Given the description of an element on the screen output the (x, y) to click on. 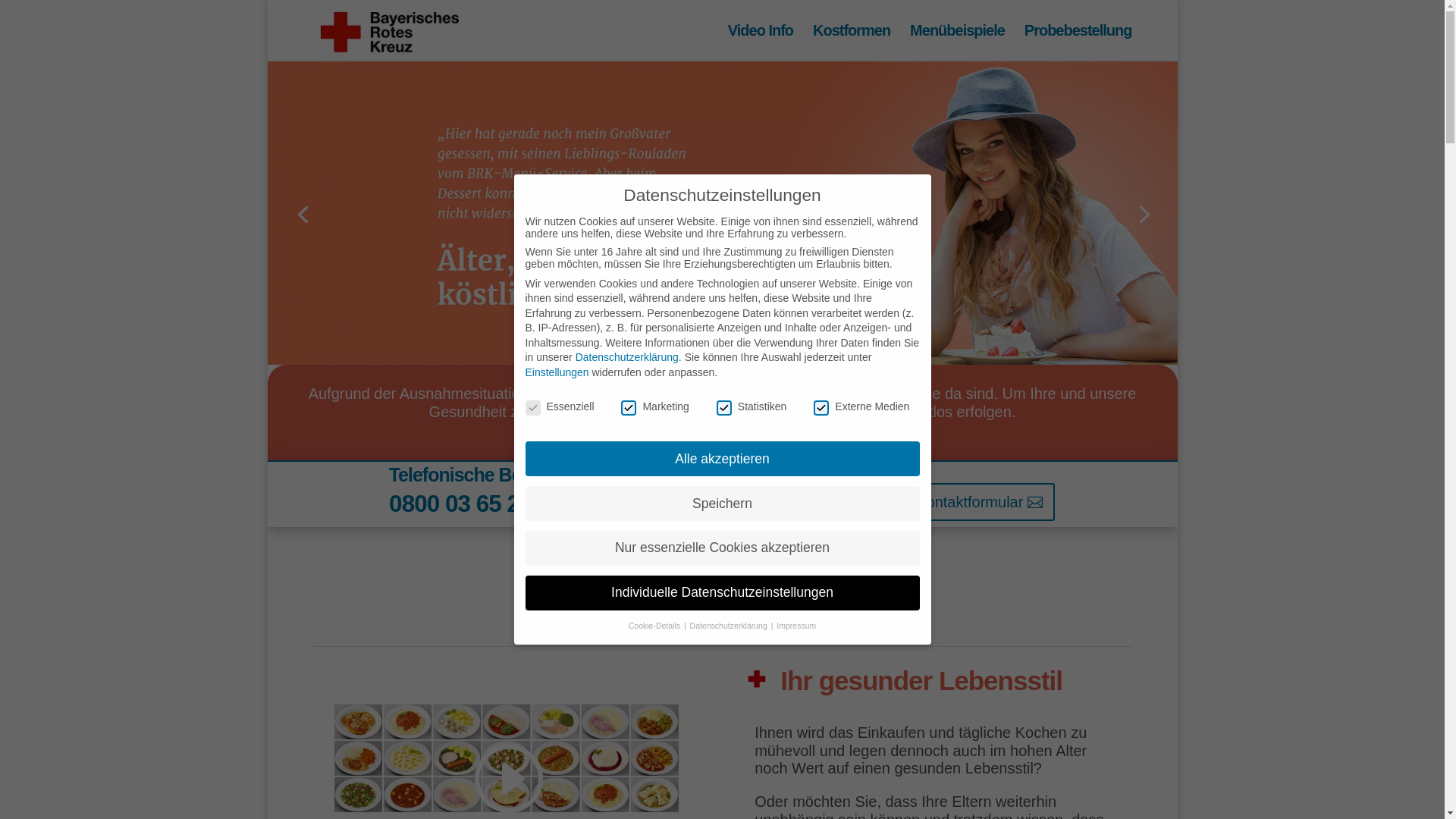
Speichern Element type: text (721, 503)
Nur essenzielle Cookies akzeptieren Element type: text (721, 547)
Impressum Element type: text (795, 625)
Video Info Element type: text (760, 42)
Kostformen Element type: text (851, 42)
Alle akzeptieren Element type: text (721, 458)
Zum Kontaktformular Element type: text (962, 501)
Individuelle Datenschutzeinstellungen Element type: text (721, 592)
Cookie-Details Element type: text (655, 625)
Probebestellung Element type: text (1078, 42)
Einstellungen Element type: text (556, 372)
